Given the description of an element on the screen output the (x, y) to click on. 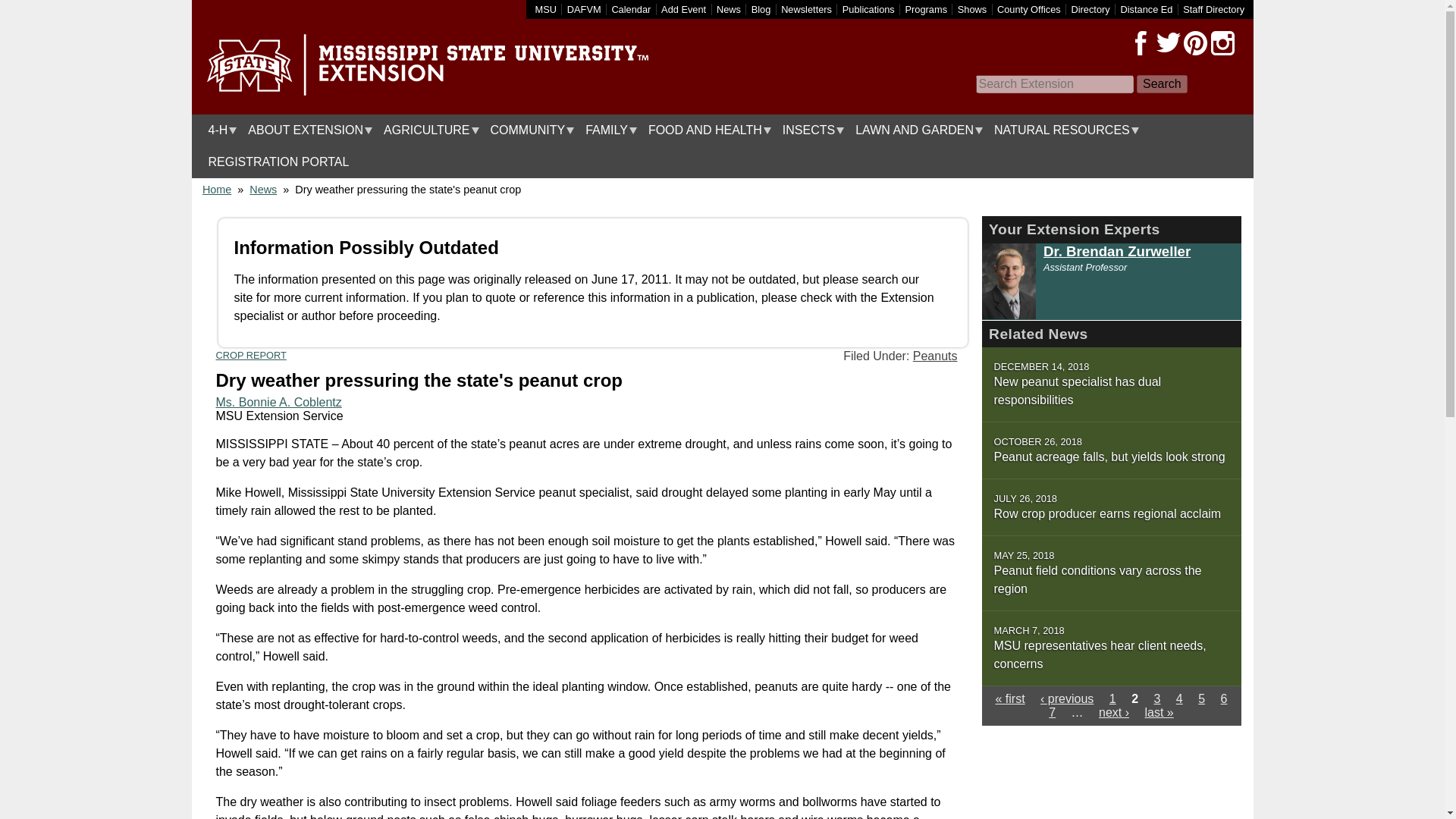
Link to Mississippi State University (545, 9)
Programs (926, 9)
MSU (545, 9)
Distance Ed (1145, 9)
Pinterest (1194, 43)
Facebook (1140, 43)
Calendar (630, 9)
News (728, 9)
Publications (869, 9)
Blog (761, 9)
Shows (972, 9)
The main event calendar for the MSU Extension Service (630, 9)
